Given the description of an element on the screen output the (x, y) to click on. 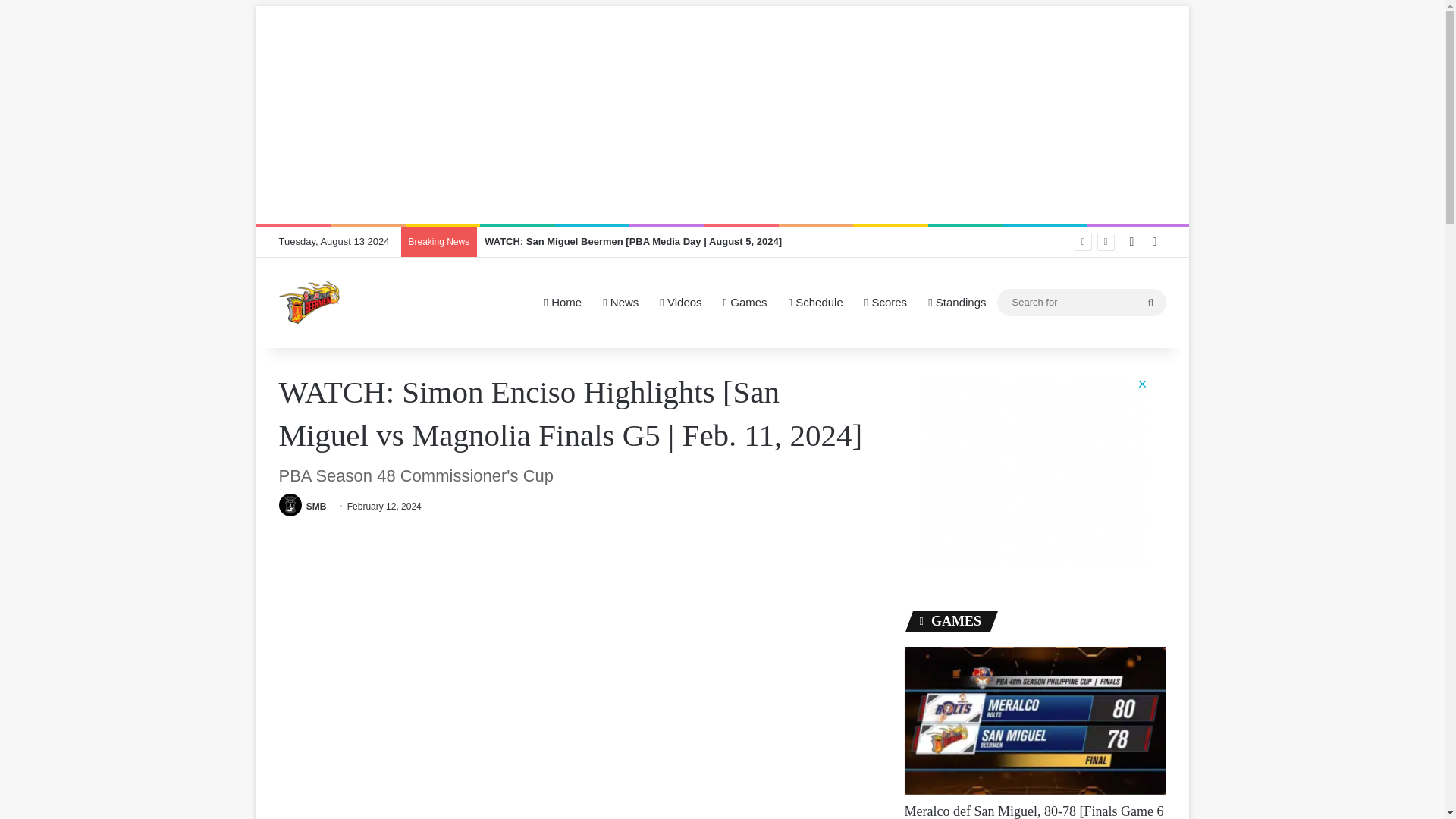
Search for (1150, 302)
SMB (315, 506)
San Miguel Beermen (309, 301)
Search for (1080, 302)
SMB (315, 506)
